Given the description of an element on the screen output the (x, y) to click on. 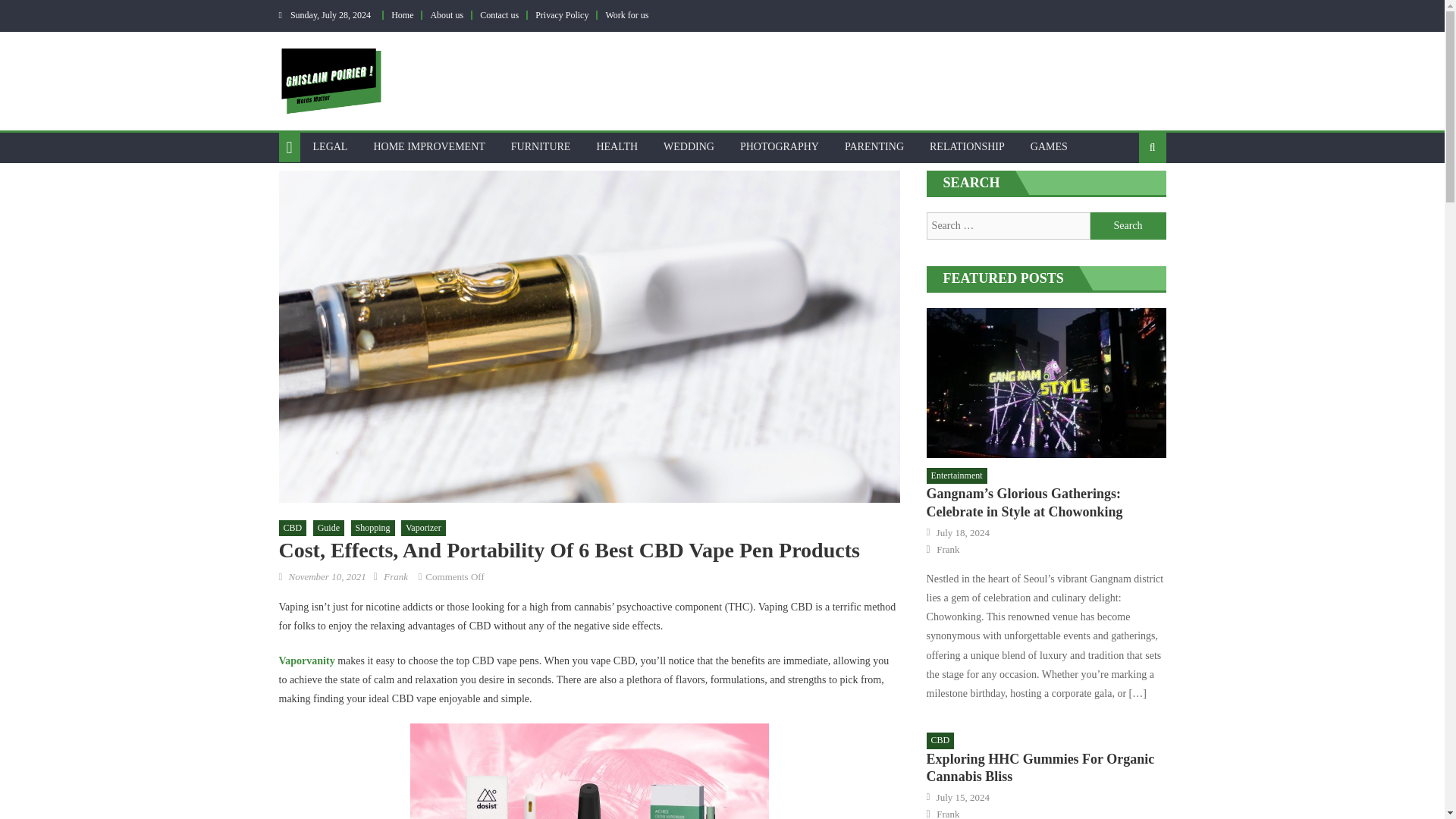
Vaporvanity (306, 660)
Privacy Policy (561, 14)
Home (402, 14)
HEALTH (617, 146)
PHOTOGRAPHY (779, 146)
Contact us (499, 14)
GAMES (1048, 146)
HOME IMPROVEMENT (428, 146)
PARENTING (873, 146)
Vaporizer (423, 528)
CBD (293, 528)
About us (446, 14)
Frank (395, 576)
Search (1128, 225)
Search (1128, 225)
